Given the description of an element on the screen output the (x, y) to click on. 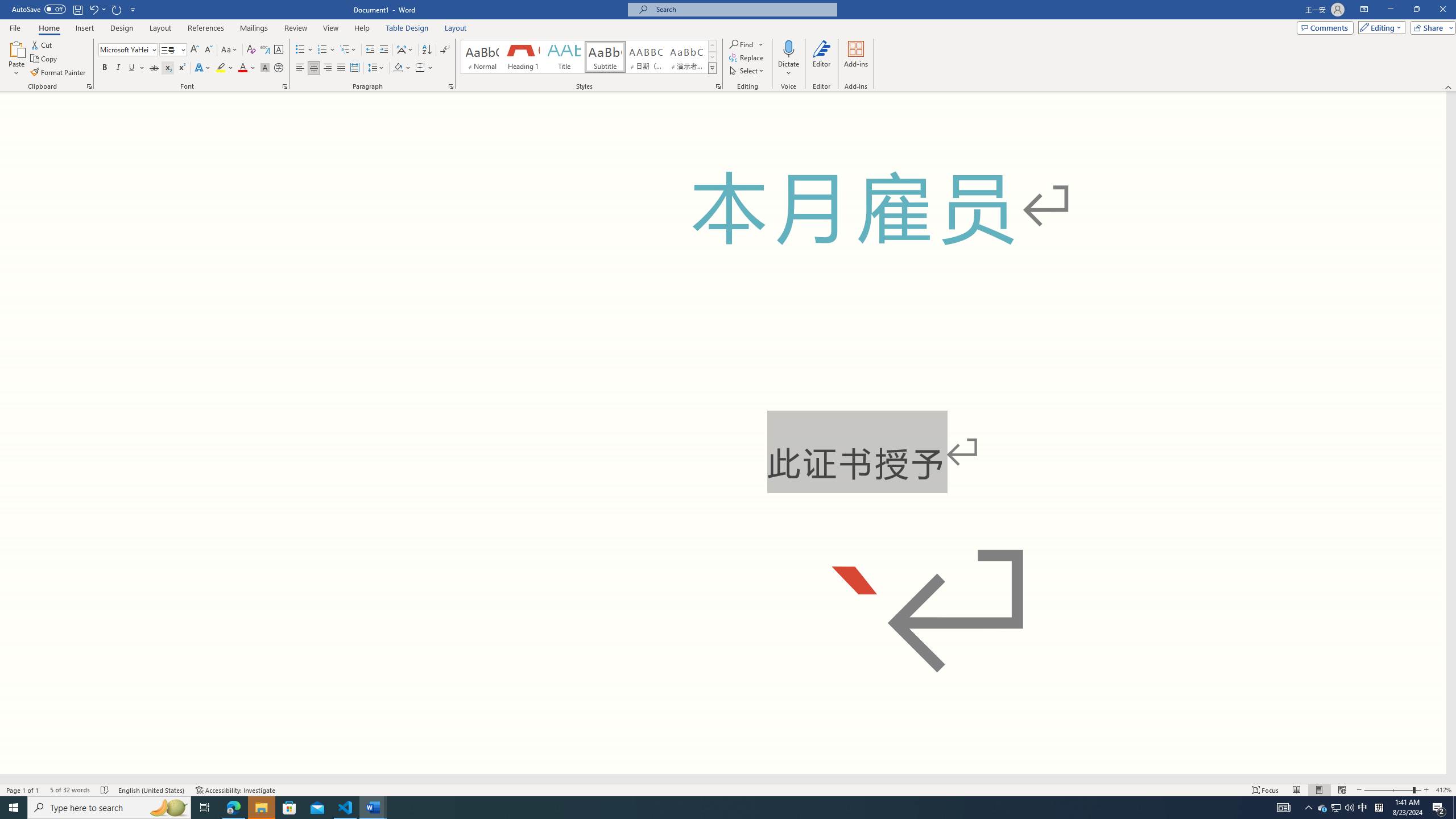
Page 1 content (722, 432)
Undo Subscript (92, 9)
